Given the description of an element on the screen output the (x, y) to click on. 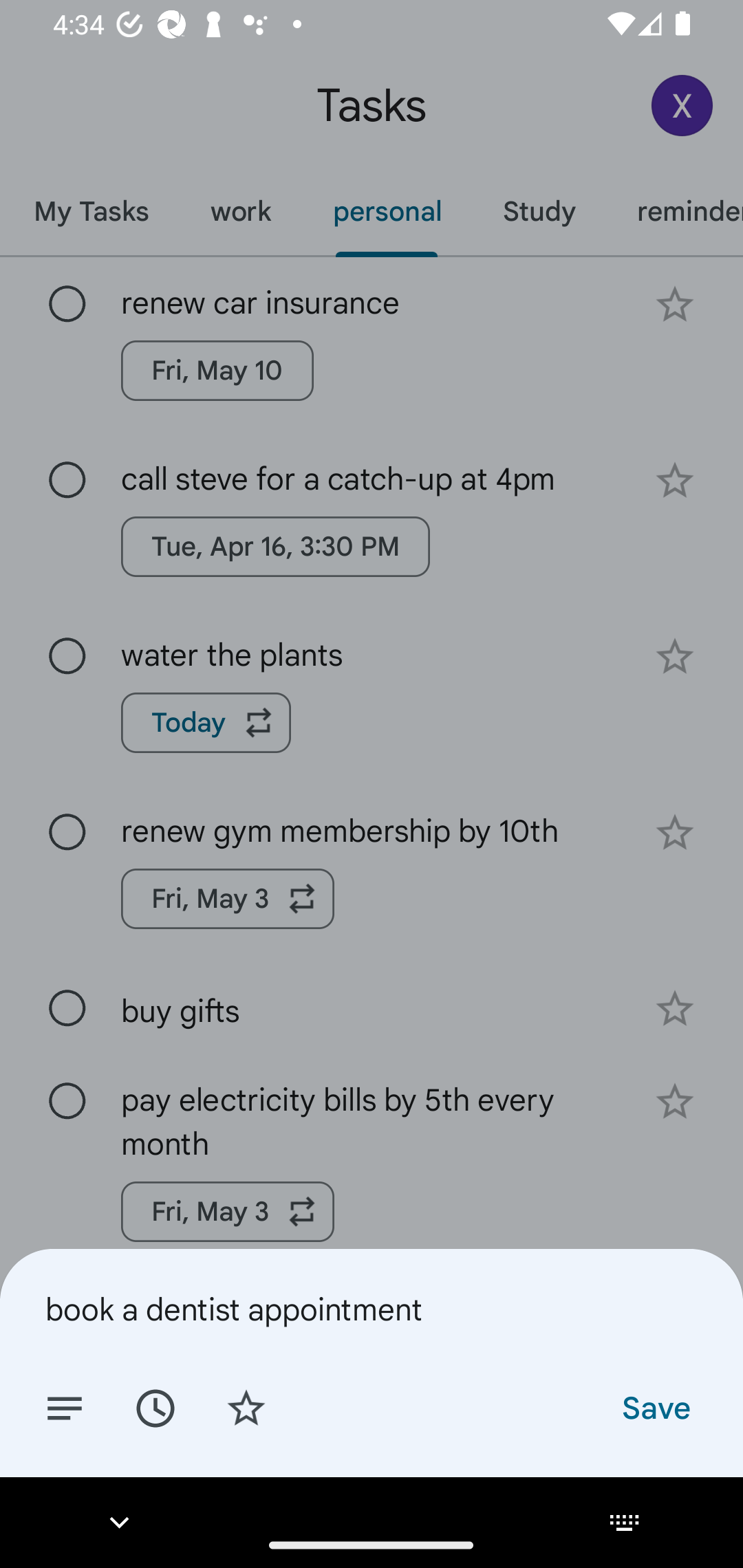
book a dentist appointment (371, 1308)
Save (655, 1407)
Add details (64, 1407)
Set date/time (154, 1407)
Add star (245, 1407)
